Given the description of an element on the screen output the (x, y) to click on. 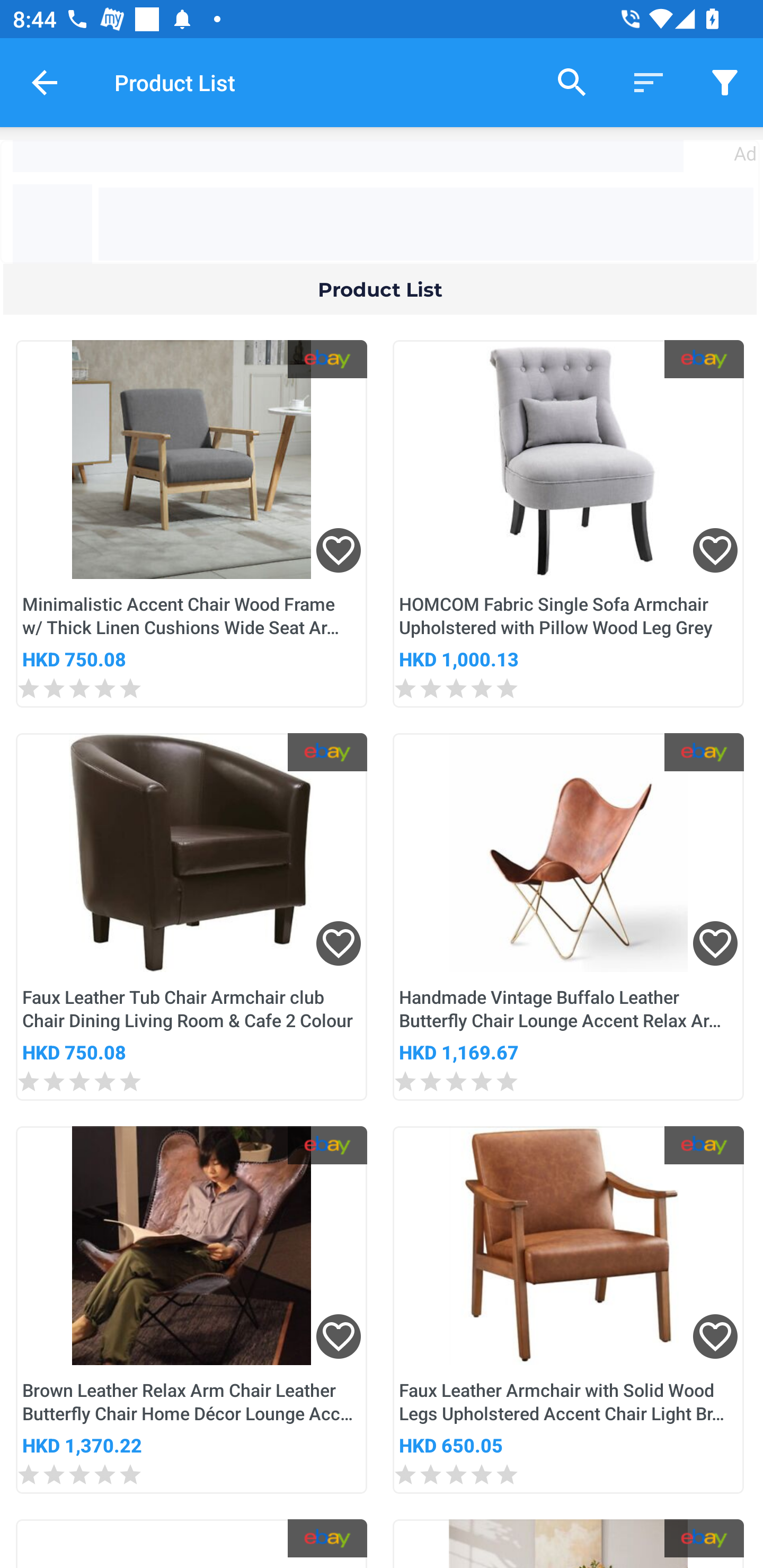
Navigate up (44, 82)
Search (572, 81)
short (648, 81)
short (724, 81)
